Given the description of an element on the screen output the (x, y) to click on. 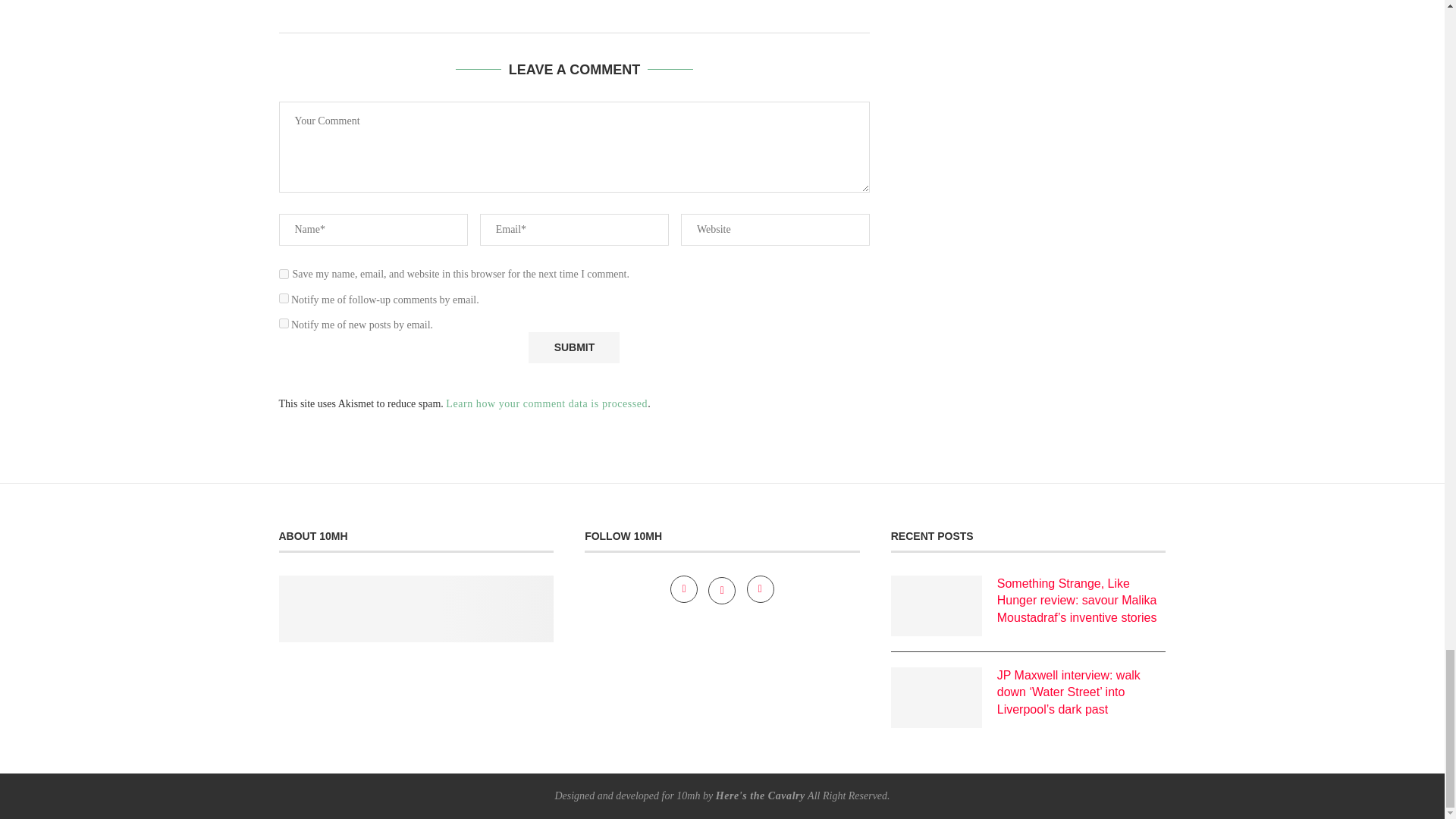
subscribe (283, 323)
subscribe (283, 298)
yes (283, 274)
Submit (574, 347)
